Given the description of an element on the screen output the (x, y) to click on. 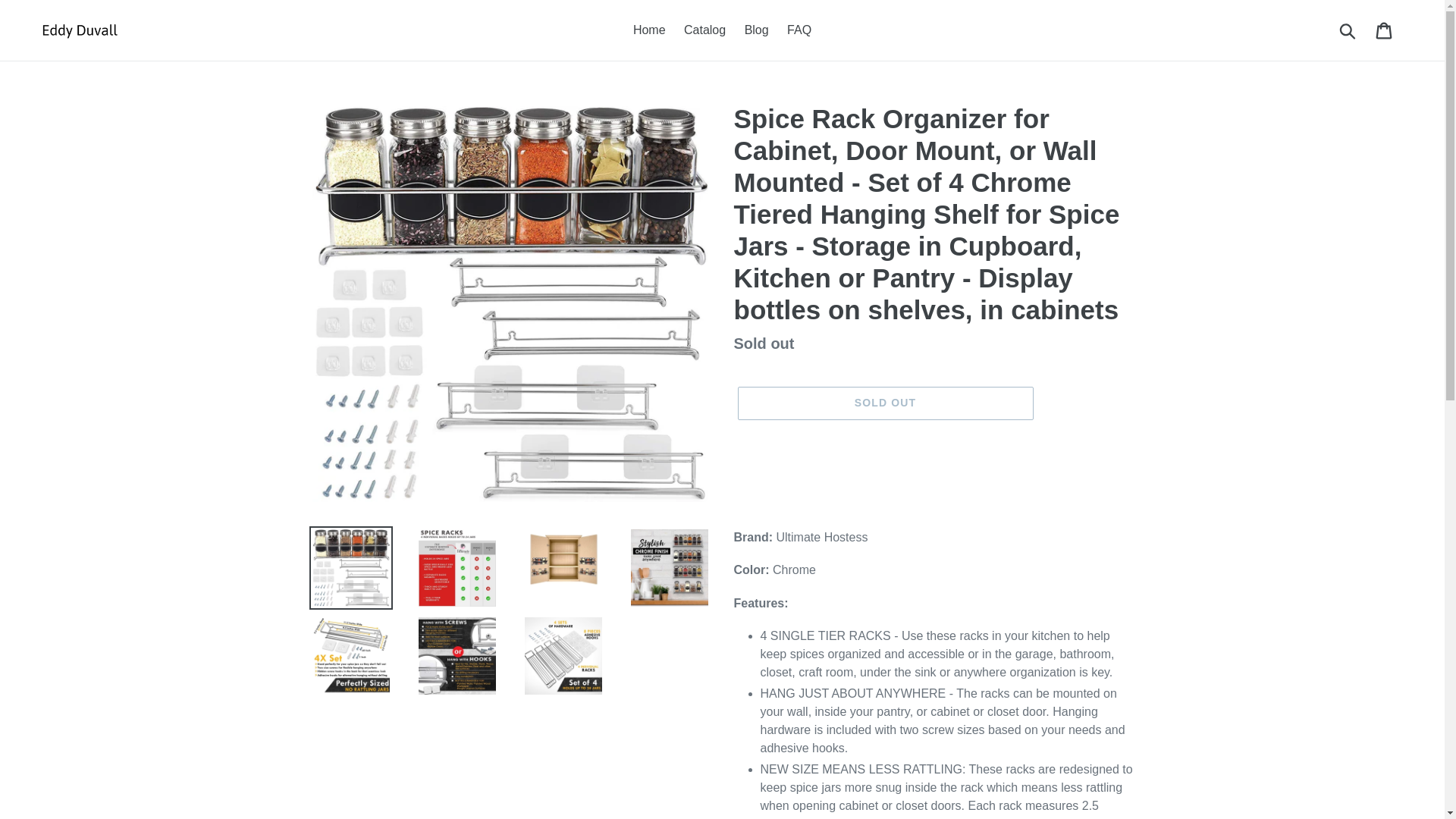
Cart (1385, 29)
Catalog (705, 29)
SOLD OUT (884, 403)
FAQ (798, 29)
Blog (756, 29)
Home (649, 29)
Submit (1348, 29)
